Given the description of an element on the screen output the (x, y) to click on. 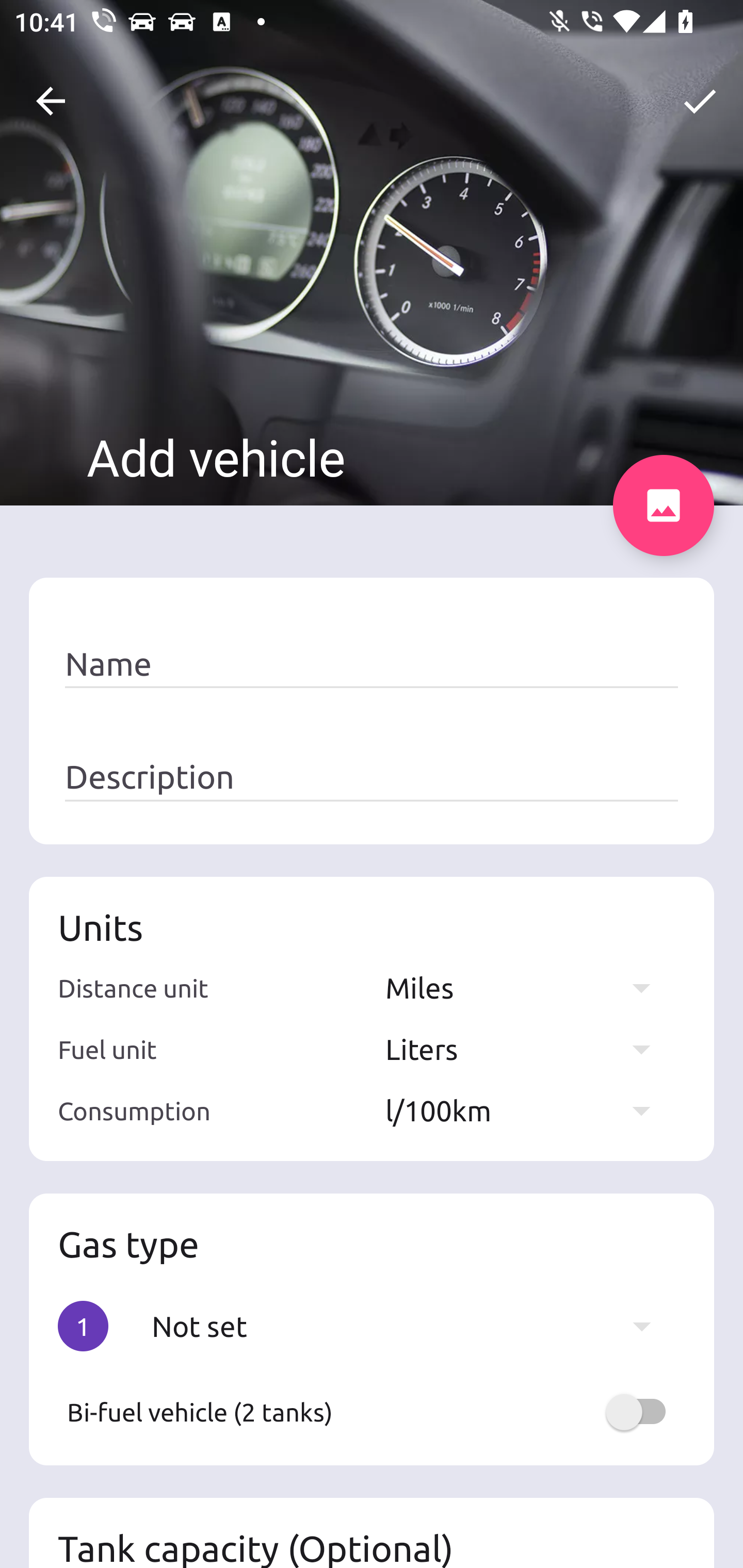
Navigate up (50, 101)
OK (699, 101)
Name (371, 664)
Description (371, 777)
Miles (527, 987)
Liters (527, 1048)
l/100km (527, 1110)
Not set (411, 1325)
Bi-fuel vehicle (2 tanks) (371, 1411)
